Given the description of an element on the screen output the (x, y) to click on. 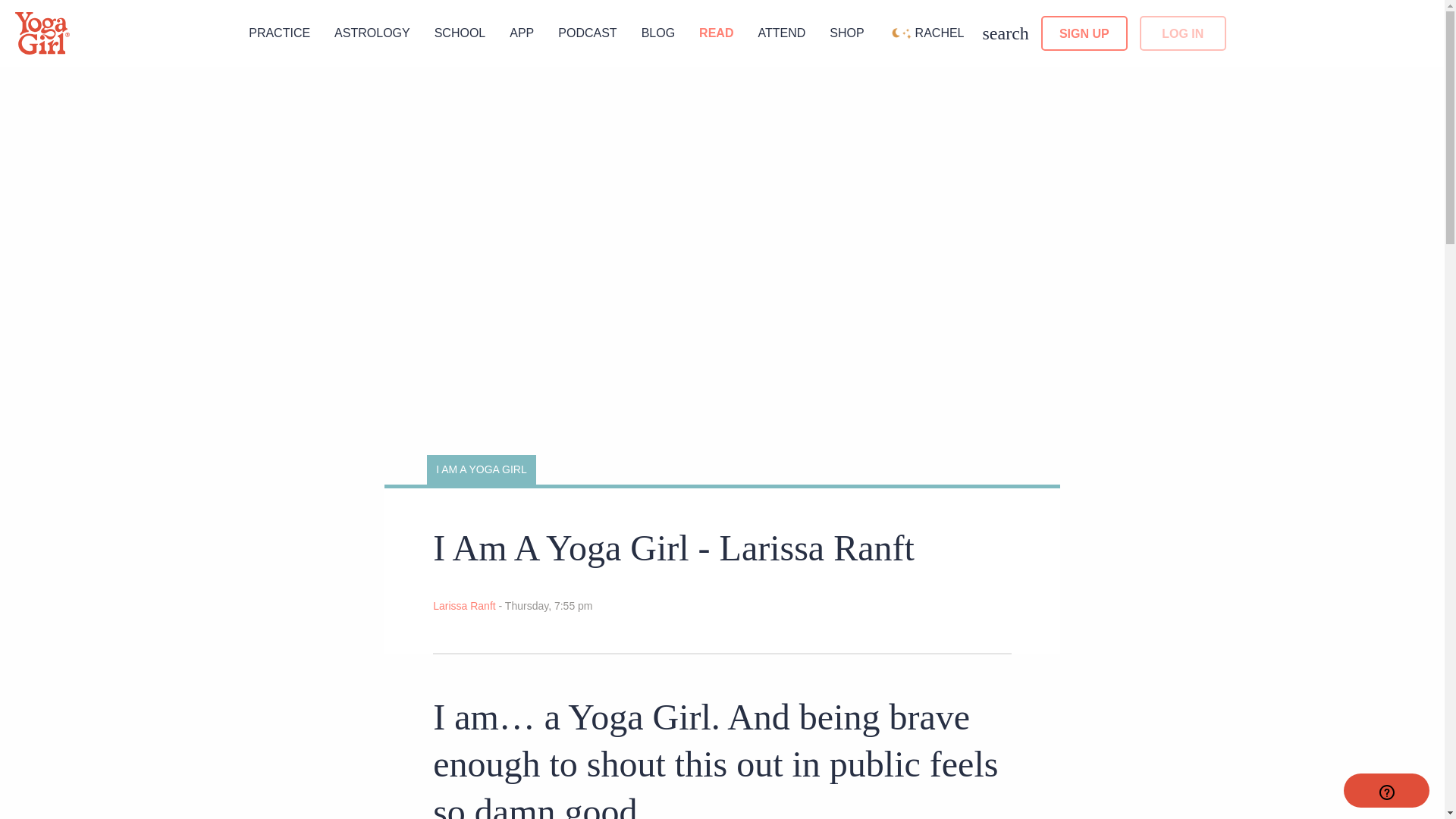
READ (715, 32)
Help (1386, 790)
Larissa Ranft (464, 605)
SIGN UP (1083, 32)
BLOG (658, 32)
SCHOOL (459, 32)
PODCAST (586, 32)
SHOP (846, 32)
ATTEND (781, 32)
LOG IN (1182, 32)
PRACTICE (279, 32)
APP (521, 32)
search (1005, 32)
ASTROLOGY (372, 32)
RACHEL (925, 32)
